Given the description of an element on the screen output the (x, y) to click on. 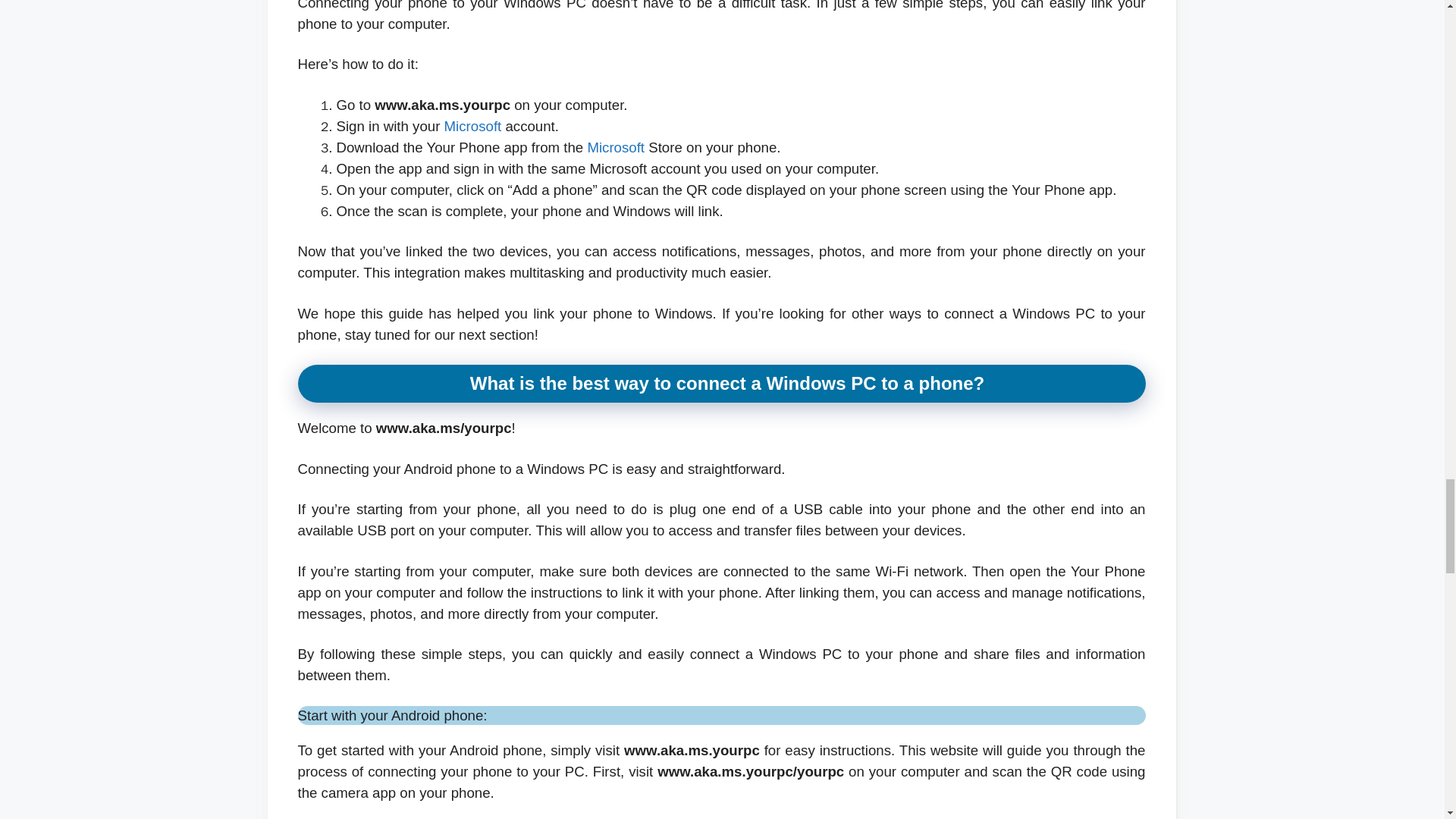
Microsoft (615, 147)
Microsoft (473, 125)
Microsoft (615, 147)
Microsoft (473, 125)
